Given the description of an element on the screen output the (x, y) to click on. 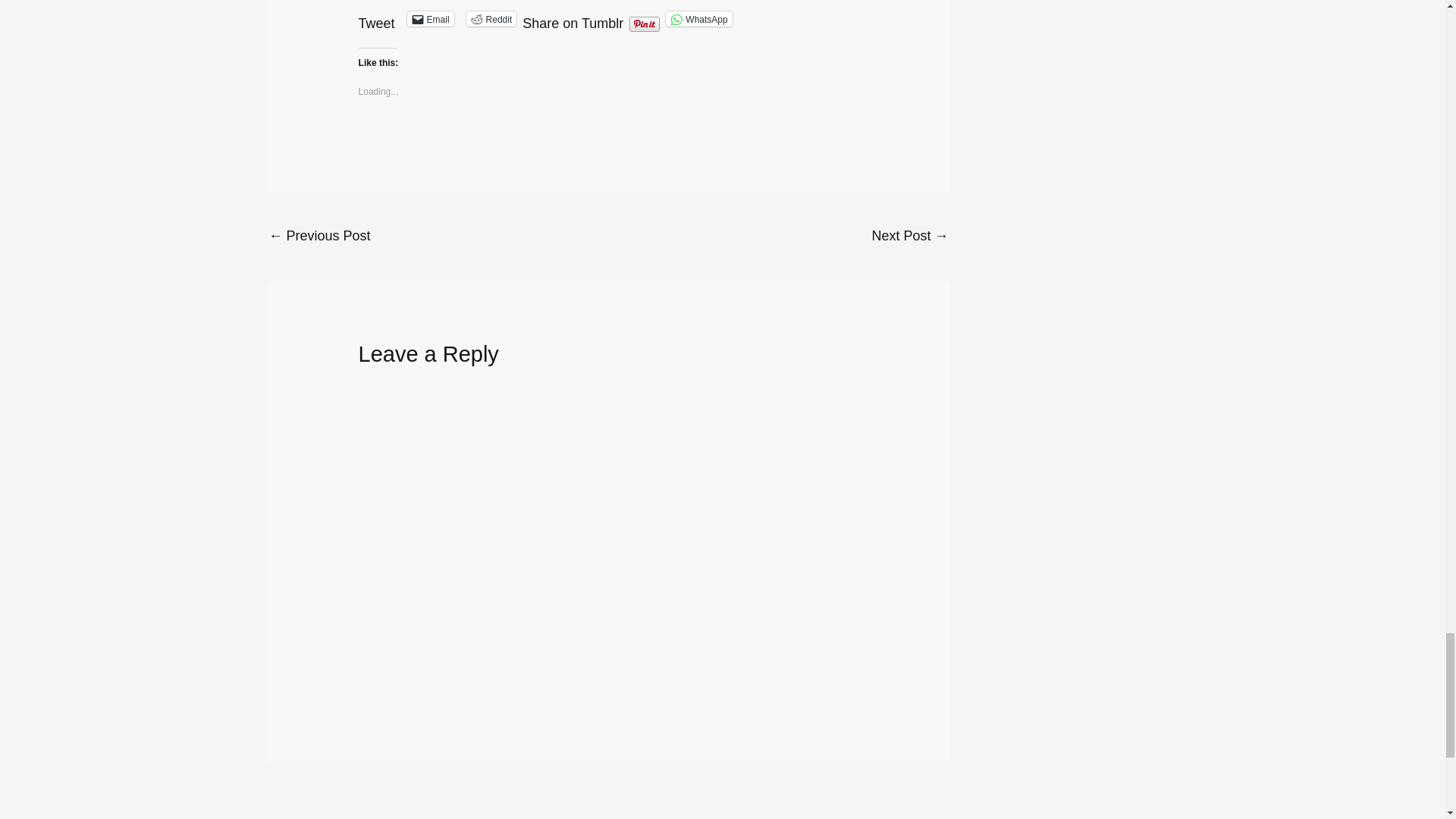
Click to share on Reddit (490, 18)
Share on Tumblr (572, 18)
How to Make Concentrated Juice at Home (908, 237)
Click to share on WhatsApp (698, 18)
Avoid This Common Mistake Cracking Eggs (318, 237)
Click to email a link to a friend (430, 18)
